Given the description of an element on the screen output the (x, y) to click on. 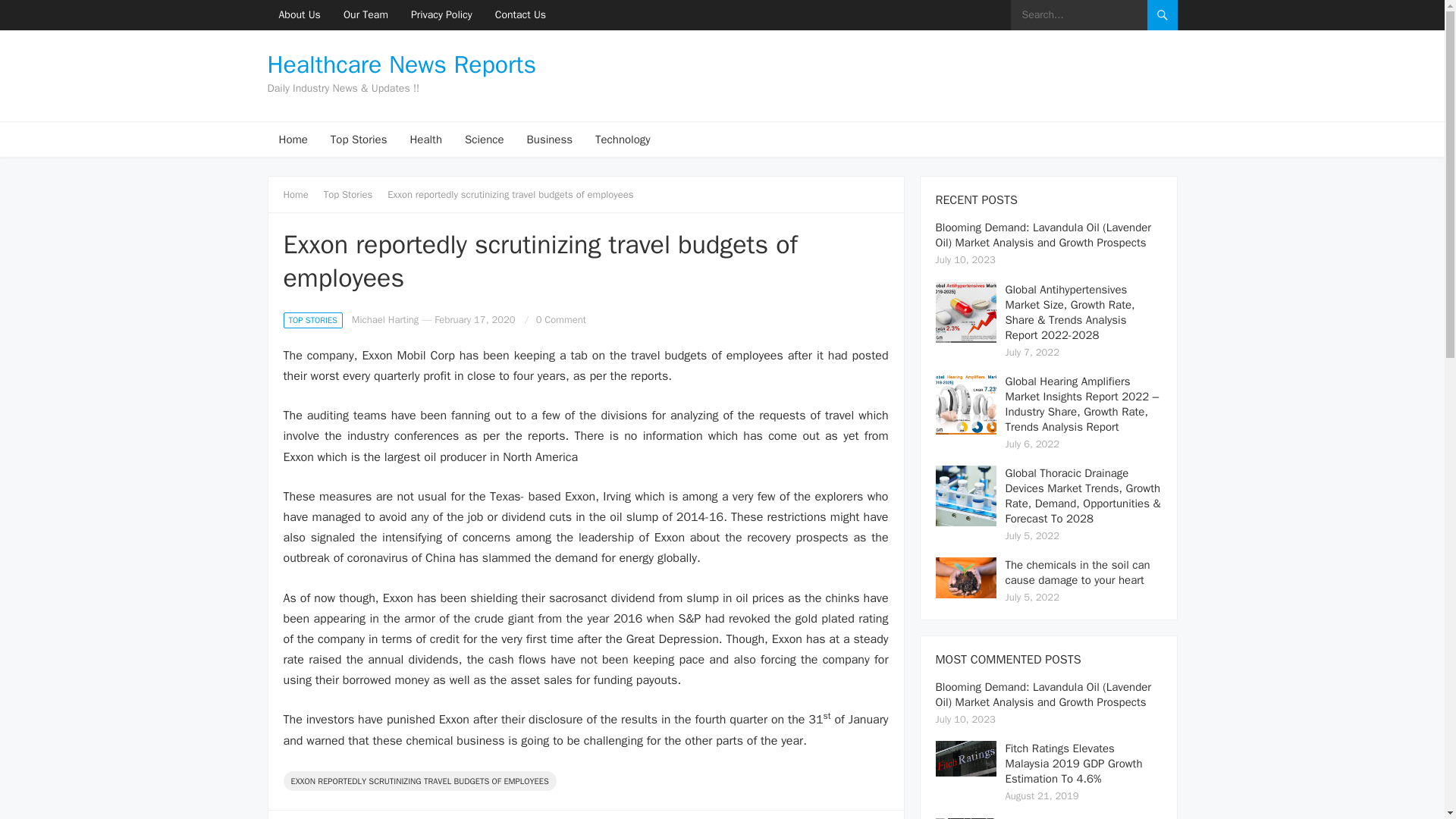
Contact Us (520, 15)
0 Comment (560, 318)
Healthcare News Reports (400, 64)
About Us (298, 15)
Technology (622, 139)
EXXON REPORTEDLY SCRUTINIZING TRAVEL BUDGETS OF EMPLOYEES (419, 781)
Health (424, 139)
Business (550, 139)
Michael Harting (385, 318)
Home (292, 139)
Home (300, 194)
Our Team (364, 15)
Top Stories (358, 139)
Top Stories (353, 194)
TOP STORIES (312, 320)
